Given the description of an element on the screen output the (x, y) to click on. 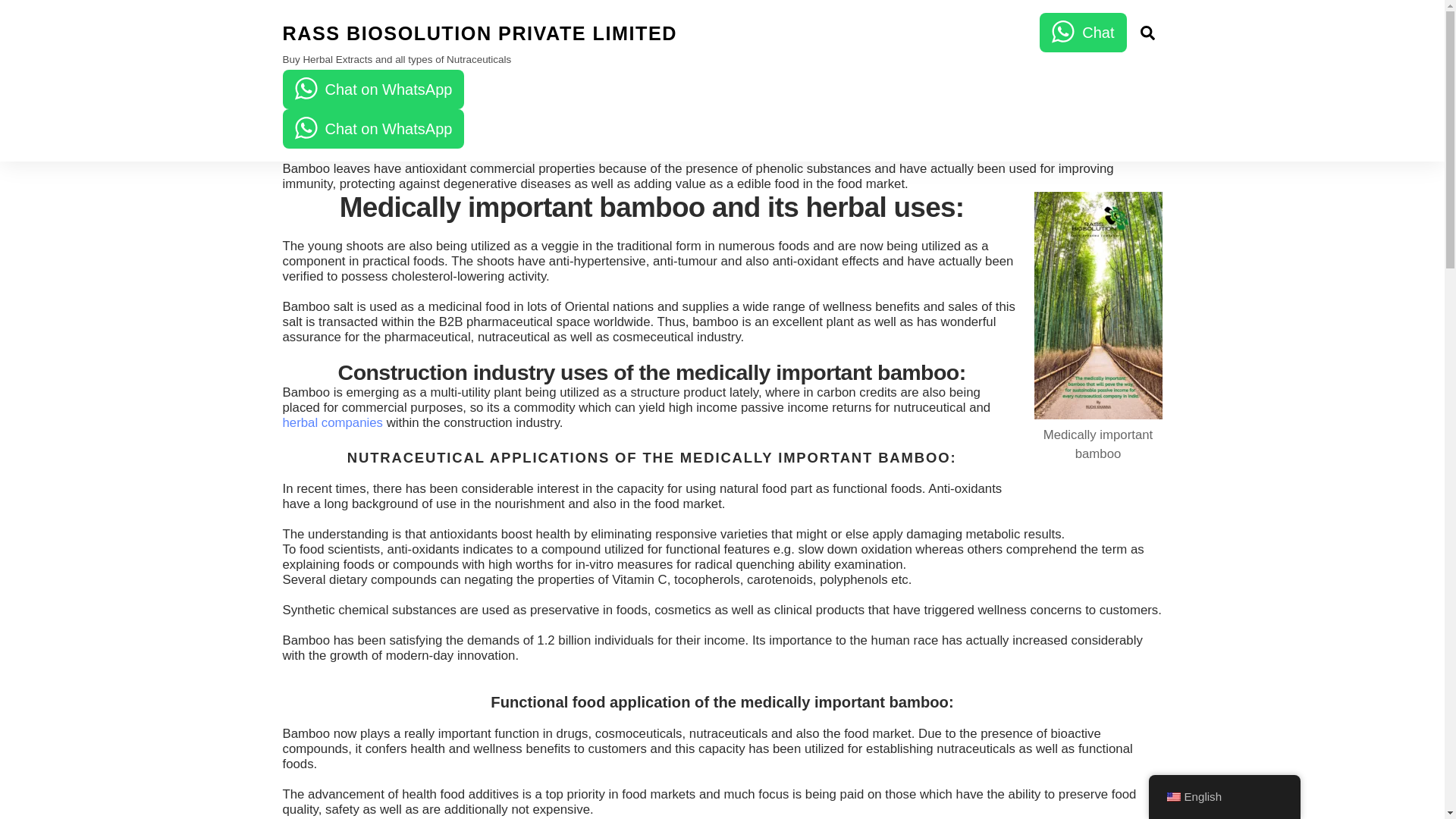
Chat on WhatsApp (373, 88)
English (1224, 796)
Search (1146, 32)
RASS BIOSOLUTION PRIVATE LIMITED (479, 33)
herbal companies (331, 422)
English (721, 108)
Chat (1172, 796)
Chat on WhatsApp (721, 80)
